Given the description of an element on the screen output the (x, y) to click on. 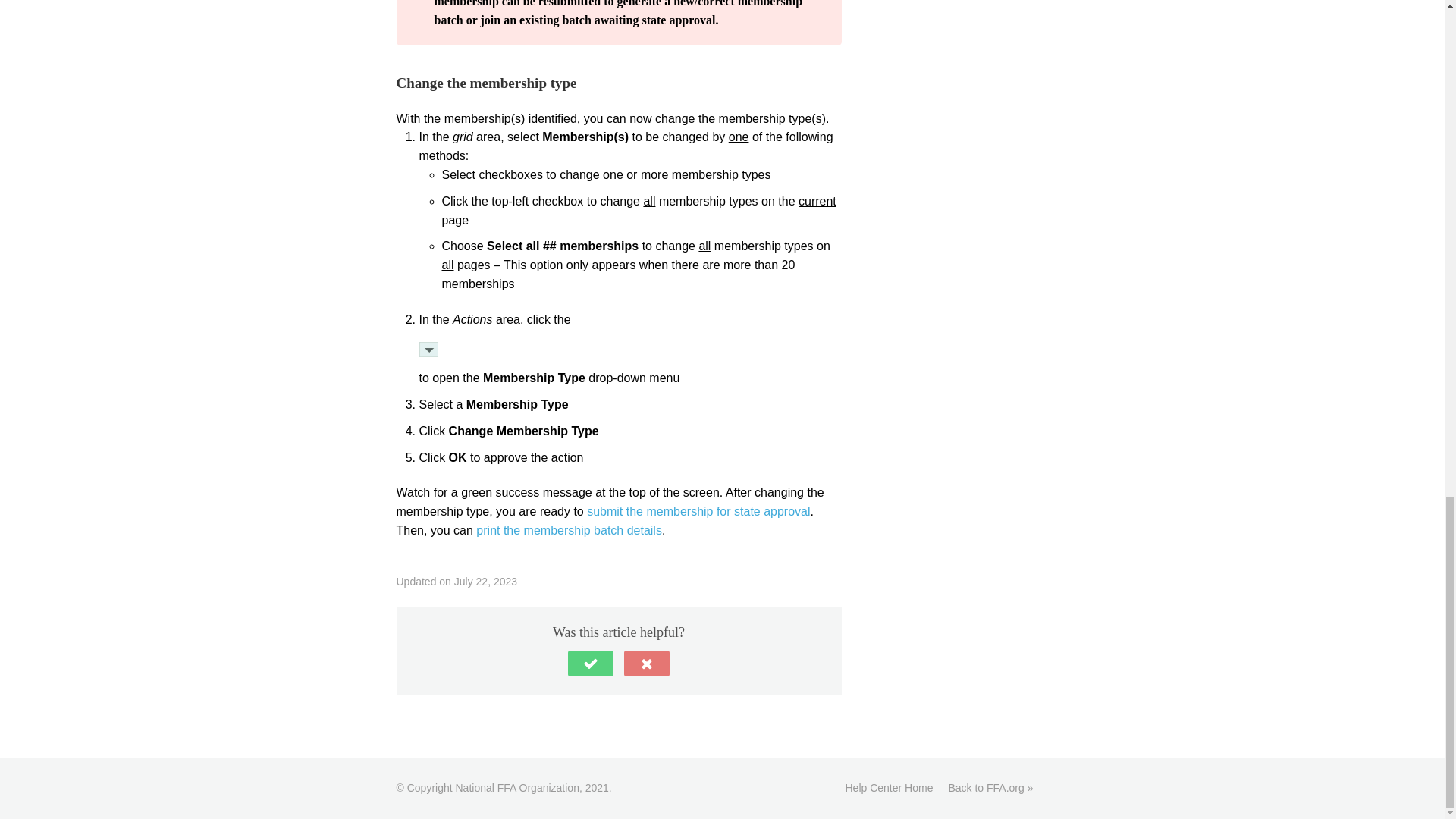
print the membership batch details (569, 530)
Help Center Home (888, 787)
submit the membership for state approval (697, 511)
